Given the description of an element on the screen output the (x, y) to click on. 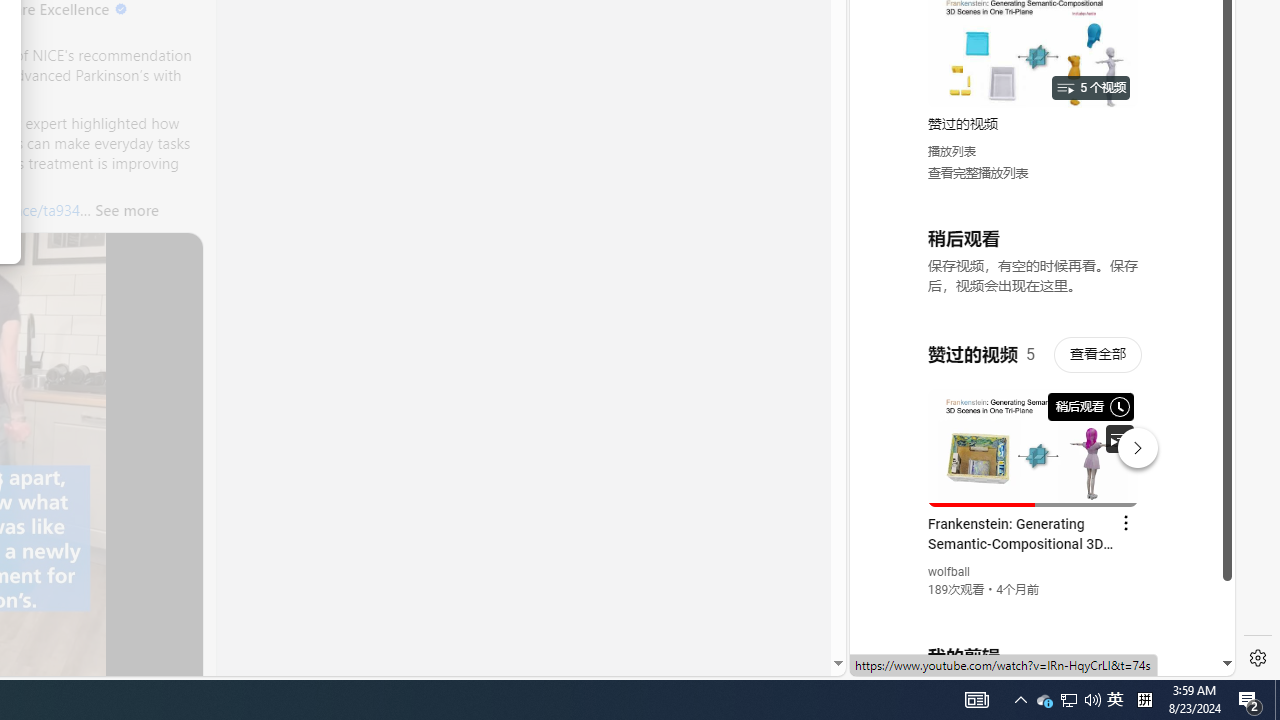
#you (1034, 439)
Actions for this site (1131, 443)
YouTube (1034, 432)
you (1034, 609)
Click to scroll right (1196, 83)
wolfball (949, 572)
